Given the description of an element on the screen output the (x, y) to click on. 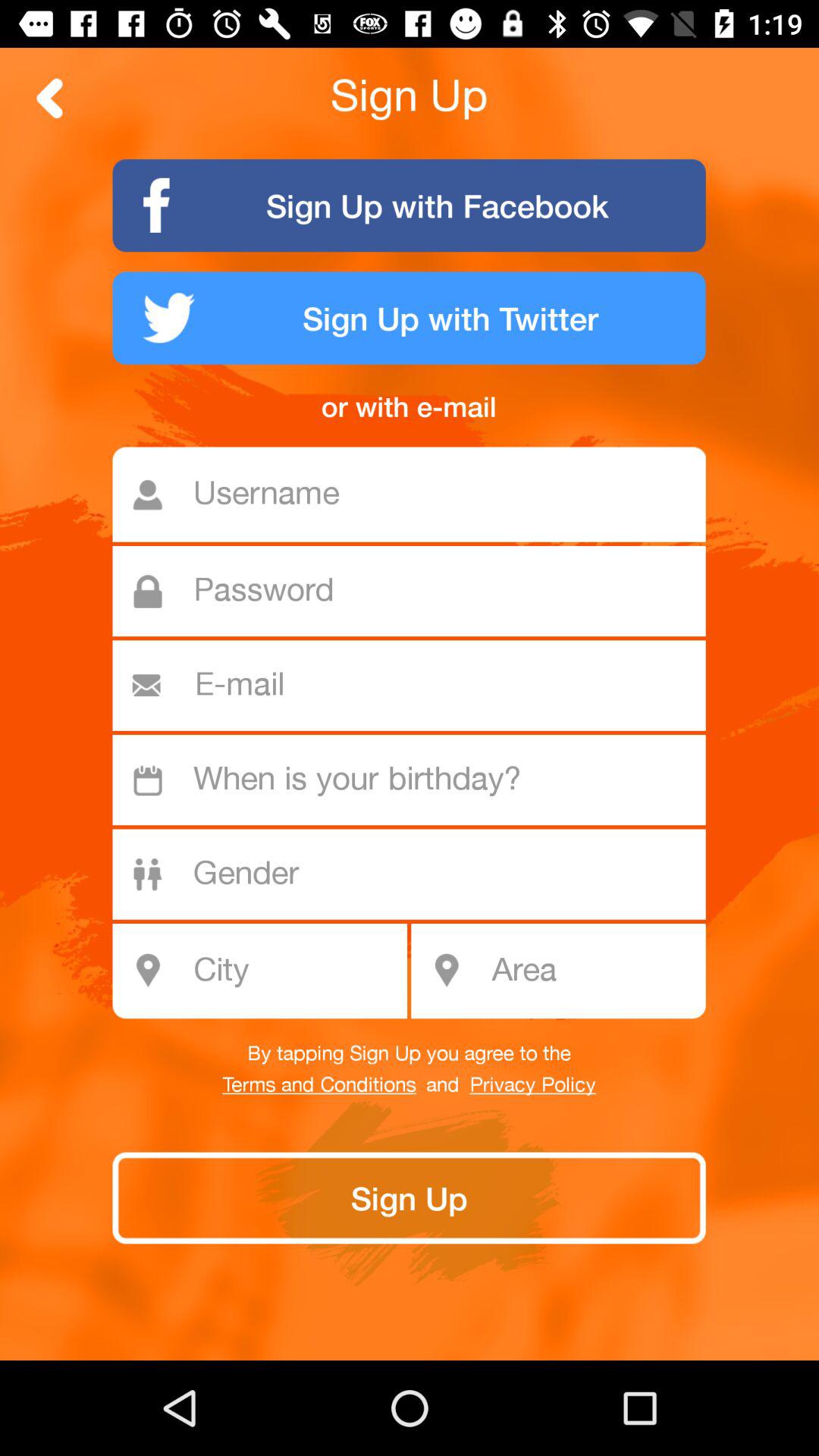
launch the icon above by tapping sign icon (268, 970)
